Given the description of an element on the screen output the (x, y) to click on. 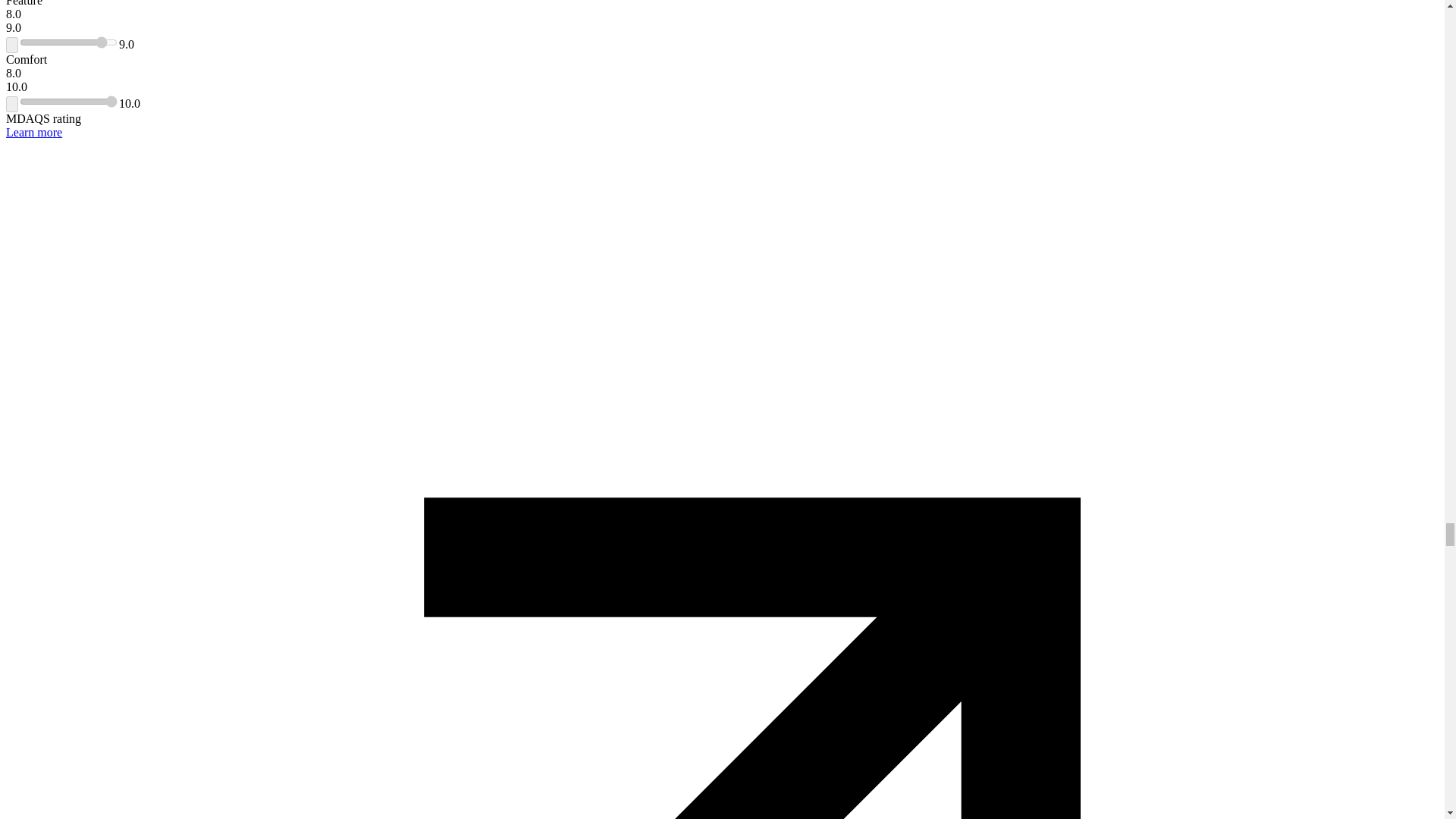
9 (68, 42)
10 (68, 101)
